Given the description of an element on the screen output the (x, y) to click on. 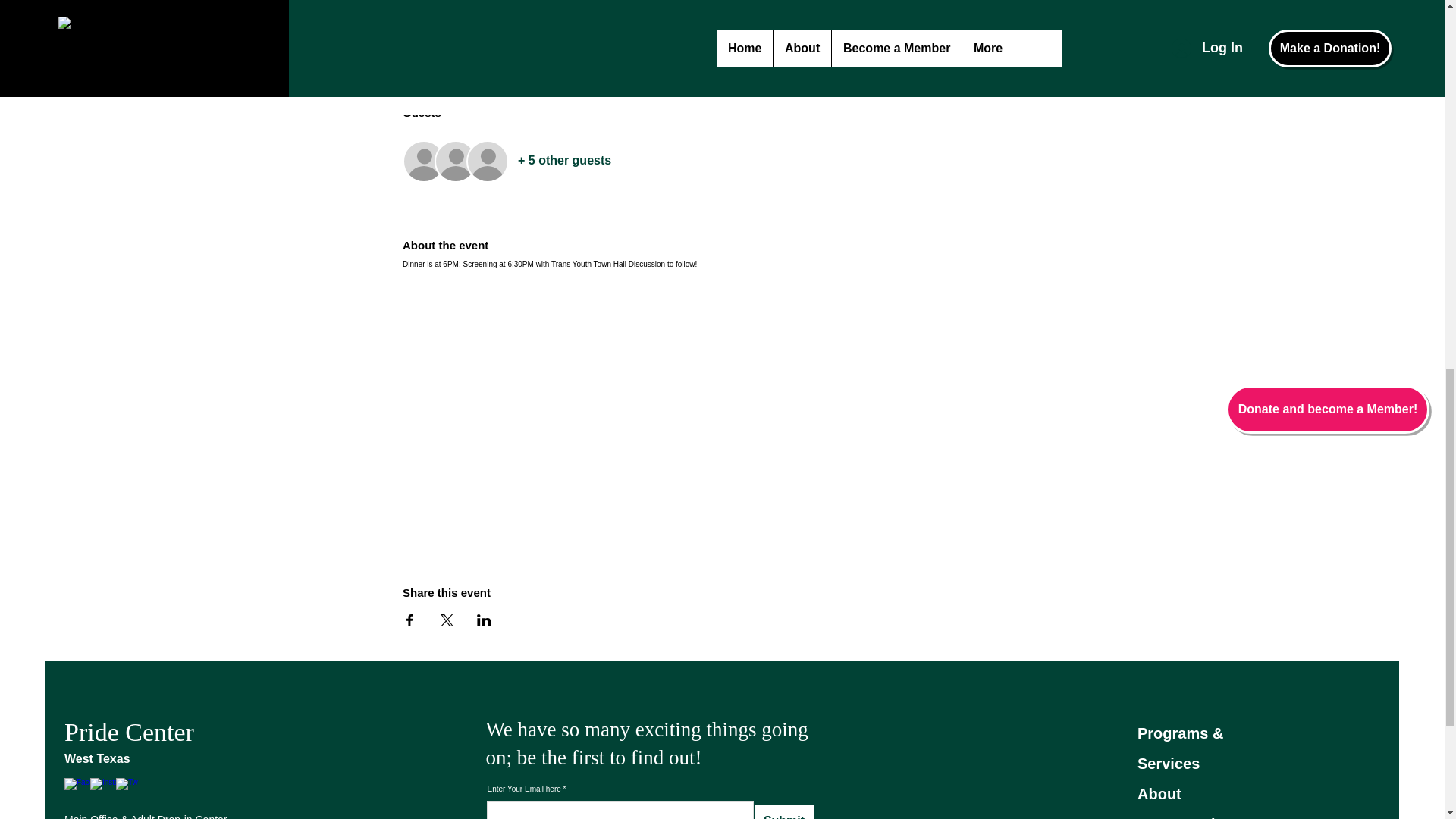
About (1158, 793)
Submit (783, 812)
West Texas (97, 758)
Pride Center (128, 732)
Ways to Give (1184, 817)
